Given the description of an element on the screen output the (x, y) to click on. 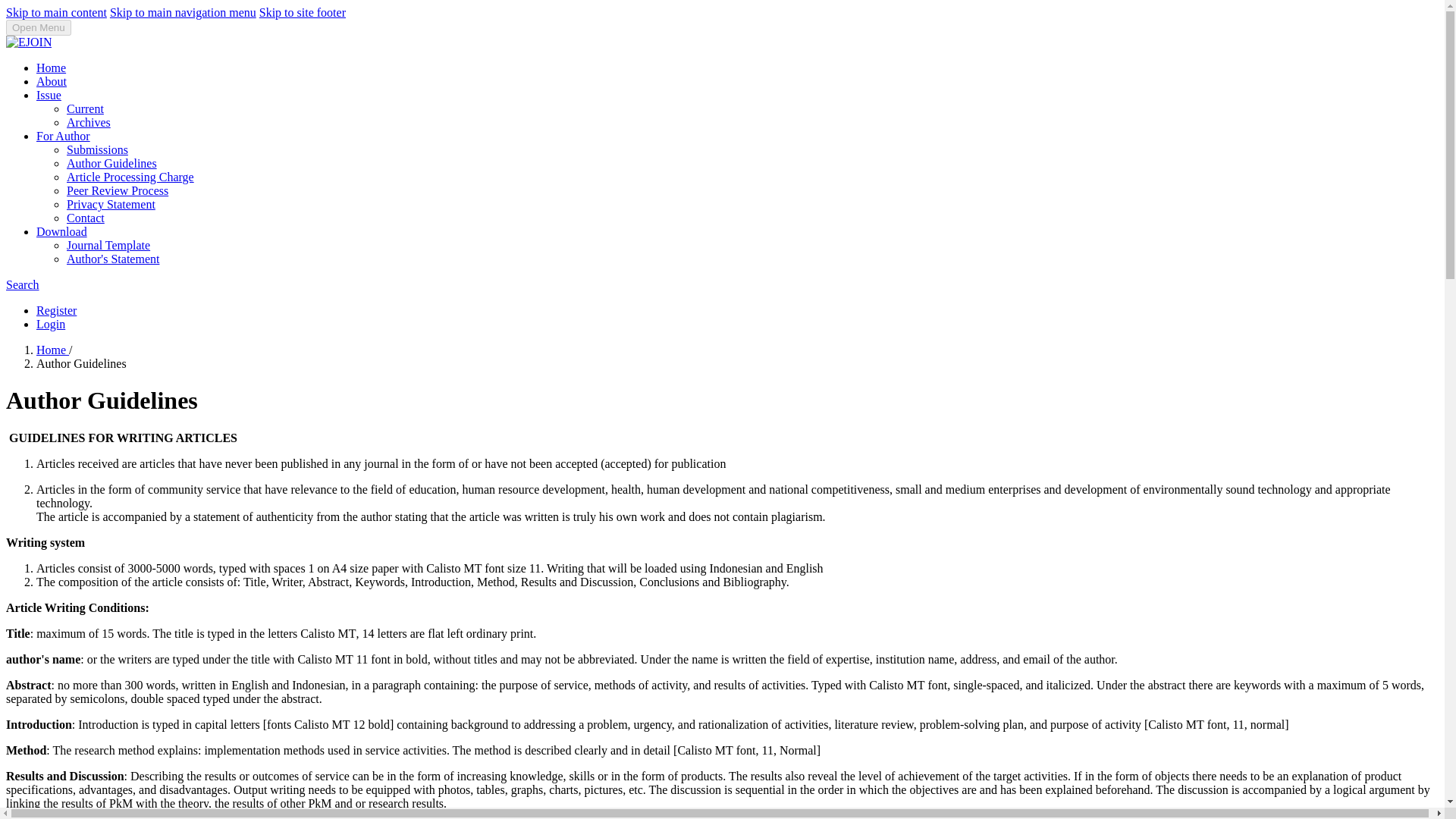
Contact (85, 217)
Issue (48, 94)
Current (84, 108)
Submissions (97, 149)
Skip to main content (55, 11)
Archives (88, 122)
For Author (63, 135)
Author's Statement (112, 258)
Home (50, 67)
Peer Review Process (117, 190)
